Given the description of an element on the screen output the (x, y) to click on. 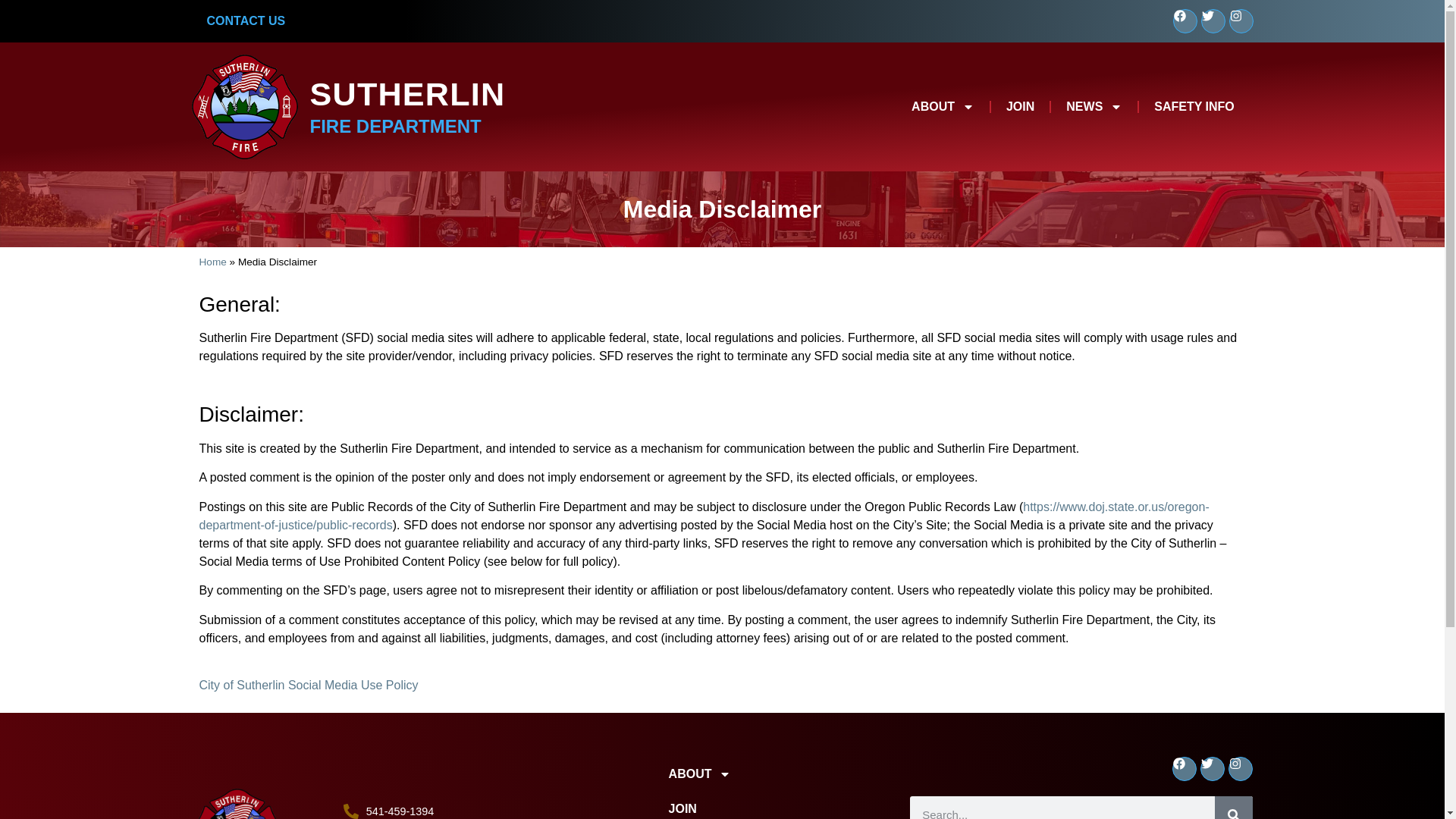
541-459-1394 (498, 811)
SAFETY INFO (1193, 106)
CONTACT US (244, 21)
JOIN (1020, 106)
City of Sutherlin Social Media Use Policy (307, 684)
Home (211, 261)
ABOUT (943, 106)
ABOUT (732, 773)
NEWS (1094, 106)
